Given the description of an element on the screen output the (x, y) to click on. 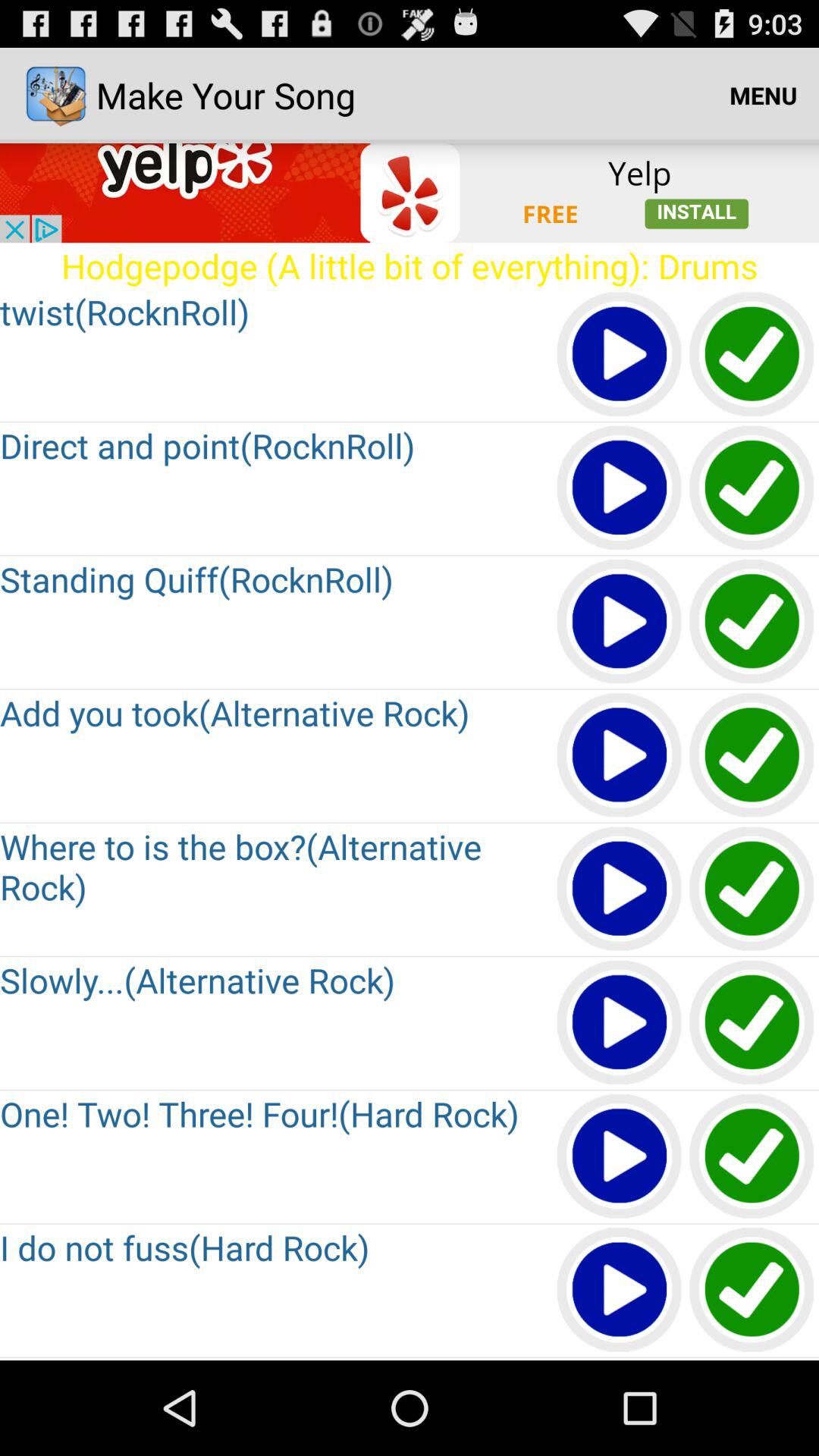
approve (752, 354)
